Given the description of an element on the screen output the (x, y) to click on. 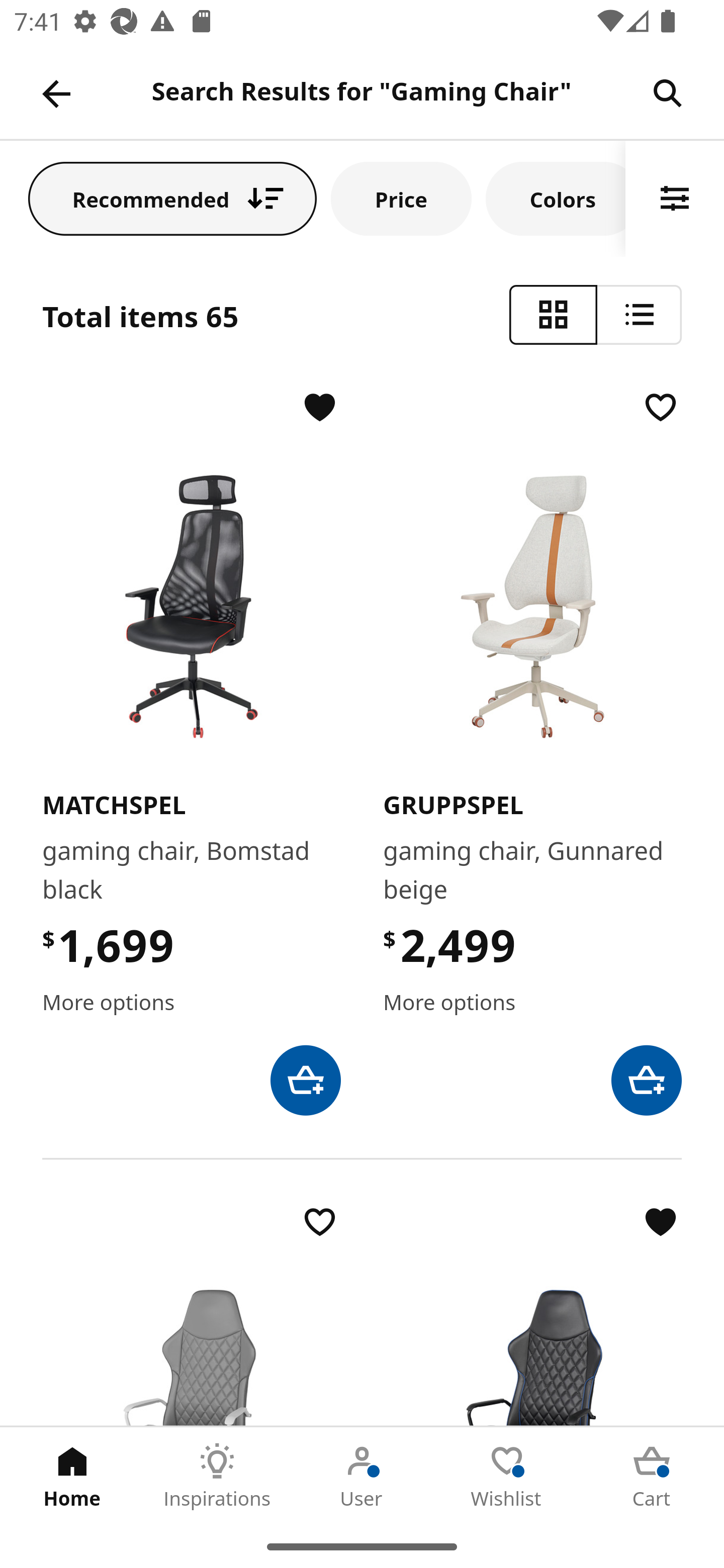
Recommended (172, 198)
Price (400, 198)
Colors (555, 198)
Home
Tab 1 of 5 (72, 1476)
Inspirations
Tab 2 of 5 (216, 1476)
User
Tab 3 of 5 (361, 1476)
Wishlist
Tab 4 of 5 (506, 1476)
Cart
Tab 5 of 5 (651, 1476)
